Given the description of an element on the screen output the (x, y) to click on. 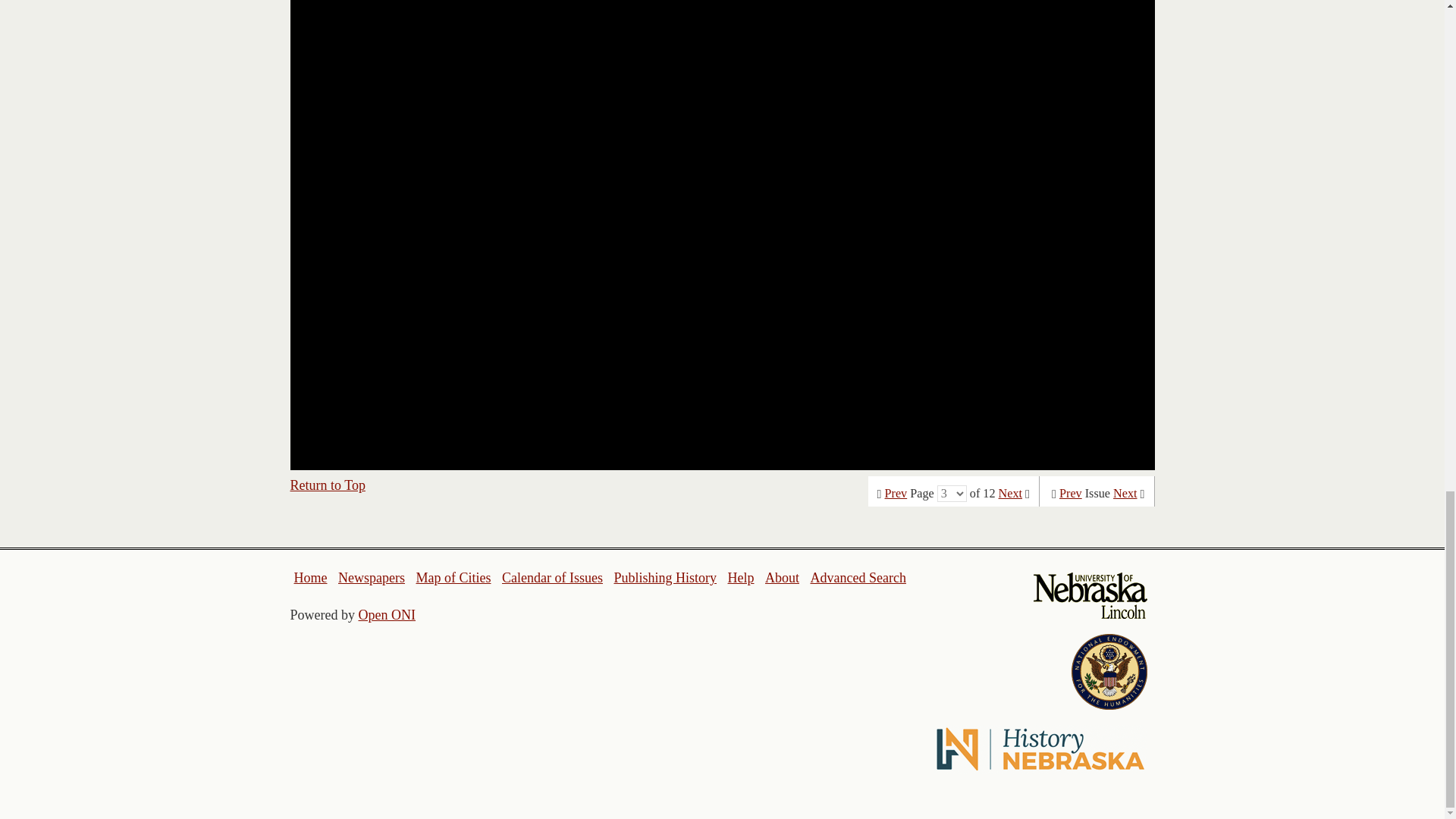
Publishing History (664, 577)
Prev (896, 493)
About (782, 577)
Next (1010, 493)
Home (310, 577)
Map of Cities (452, 577)
Advanced Search (857, 577)
Return to Top (327, 485)
Calendar of Issues (552, 577)
Help (740, 577)
Newspapers (370, 577)
Open ONI (386, 614)
Prev (1070, 493)
Next (1125, 493)
